Given the description of an element on the screen output the (x, y) to click on. 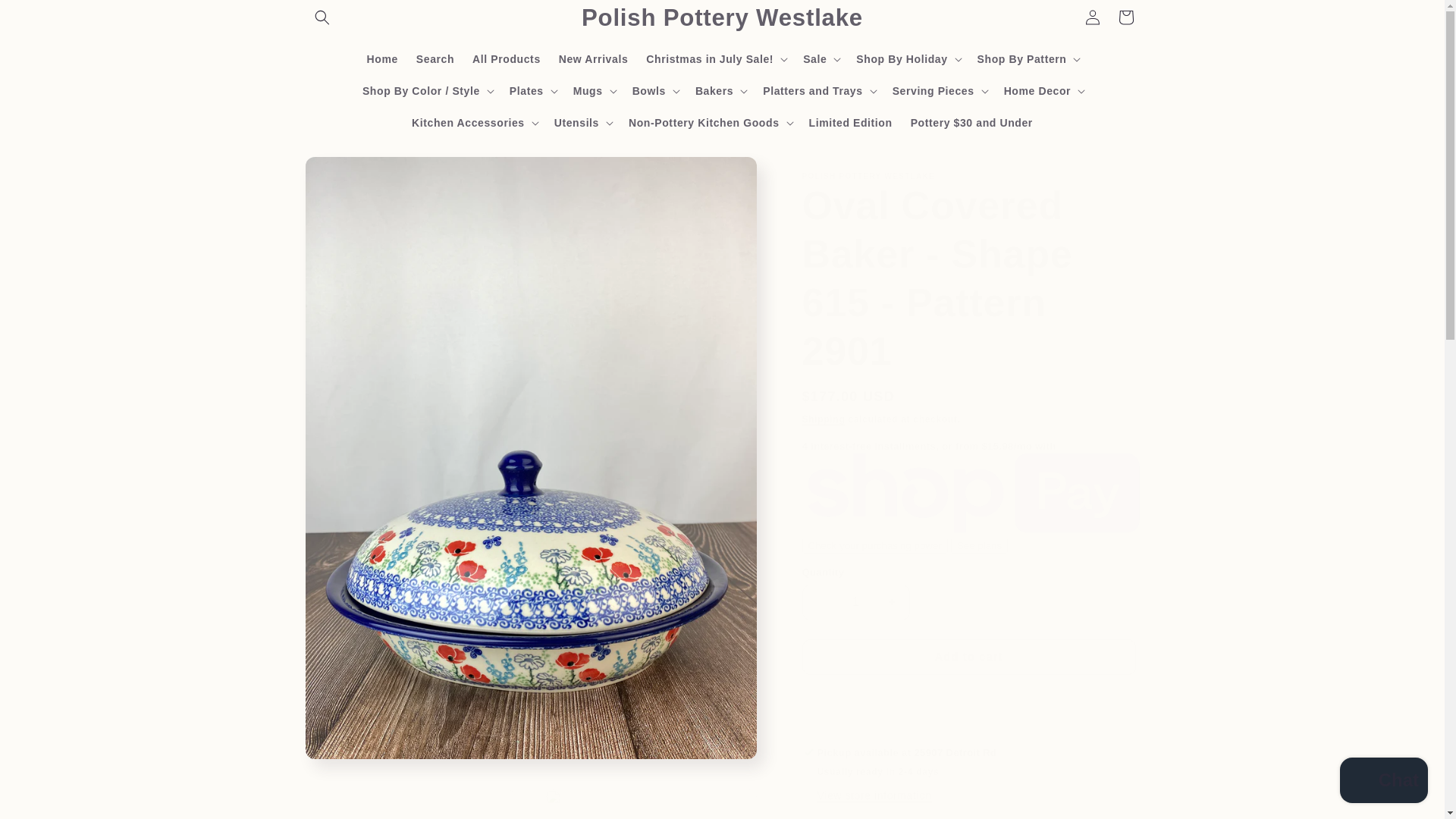
Shopify online store chat (1383, 781)
Open media 3 in modal (651, 804)
Skip to content (45, 17)
1 (856, 601)
Open media 2 in modal (409, 804)
